Given the description of an element on the screen output the (x, y) to click on. 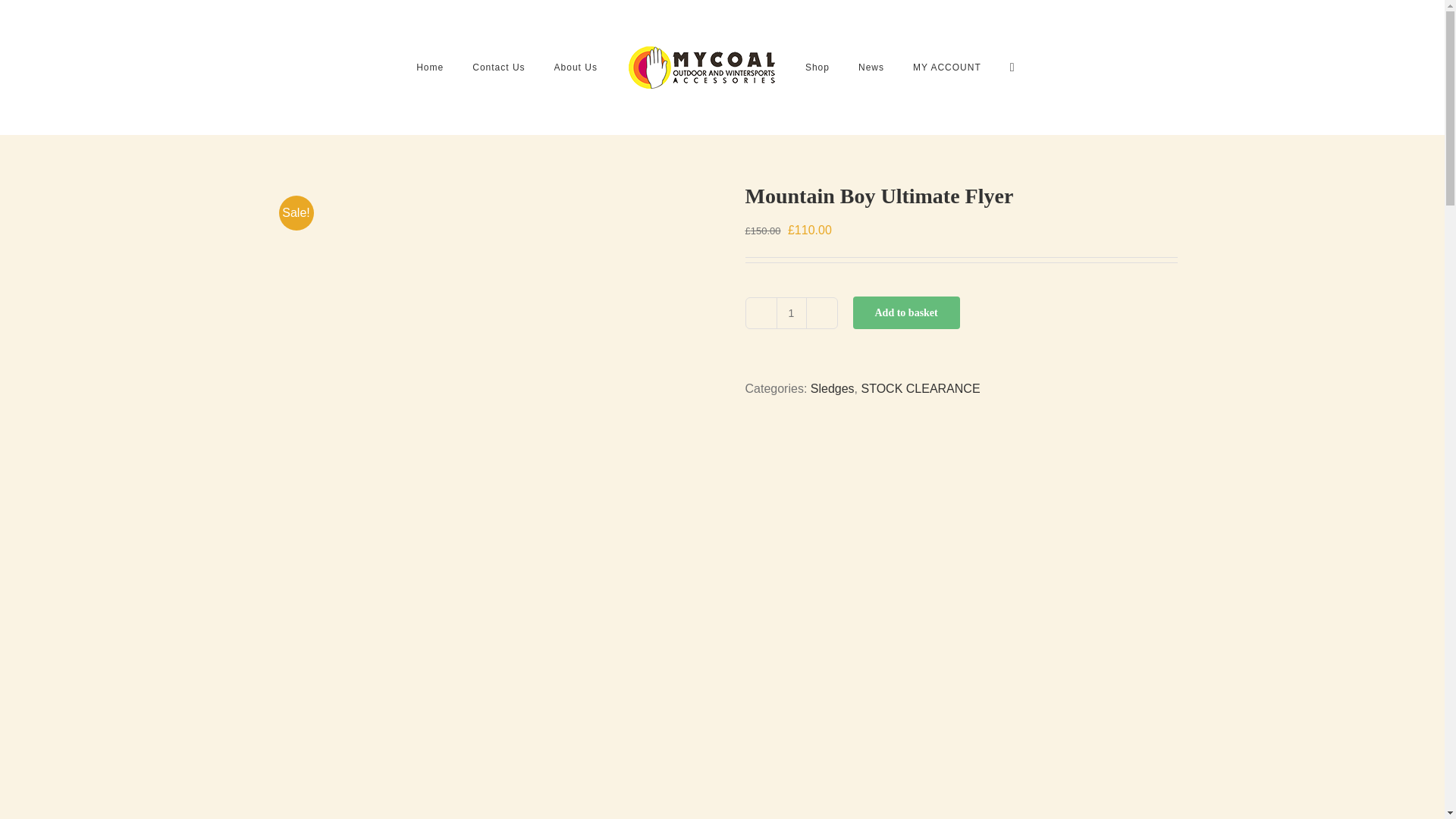
1 (791, 313)
MY ACCOUNT (946, 67)
Log In (1010, 242)
